Given the description of an element on the screen output the (x, y) to click on. 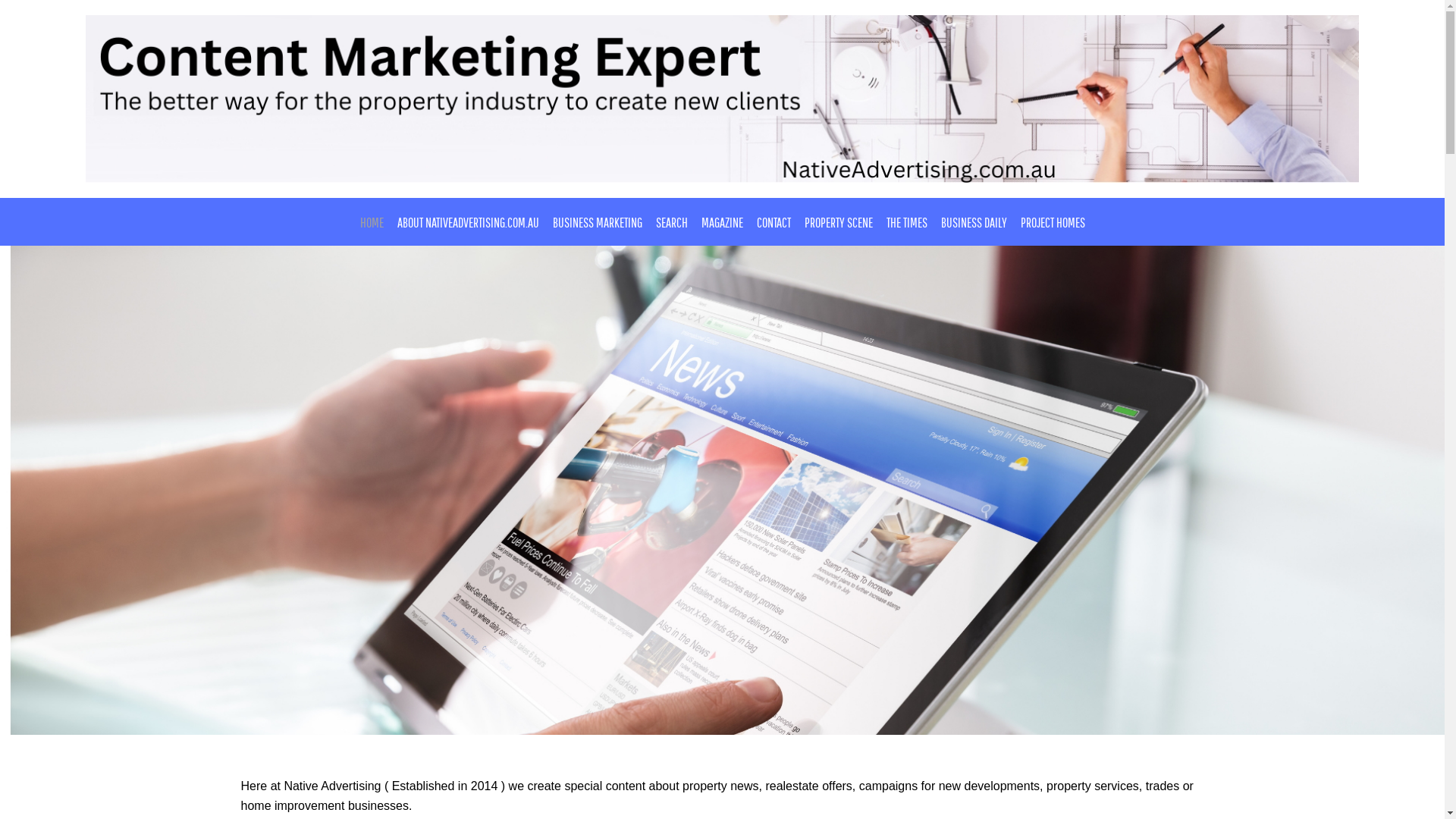
BUSINESS MARKETING Element type: text (597, 222)
MAGAZINE Element type: text (721, 222)
PROPERTY SCENE Element type: text (838, 222)
ABOUT NATIVEADVERTISING.COM.AU Element type: text (467, 222)
THE TIMES Element type: text (906, 222)
HOME Element type: text (371, 222)
BUSINESS DAILY Element type: text (973, 222)
CONTACT Element type: text (773, 222)
PROJECT HOMES Element type: text (1052, 222)
SEARCH Element type: text (671, 222)
